Given the description of an element on the screen output the (x, y) to click on. 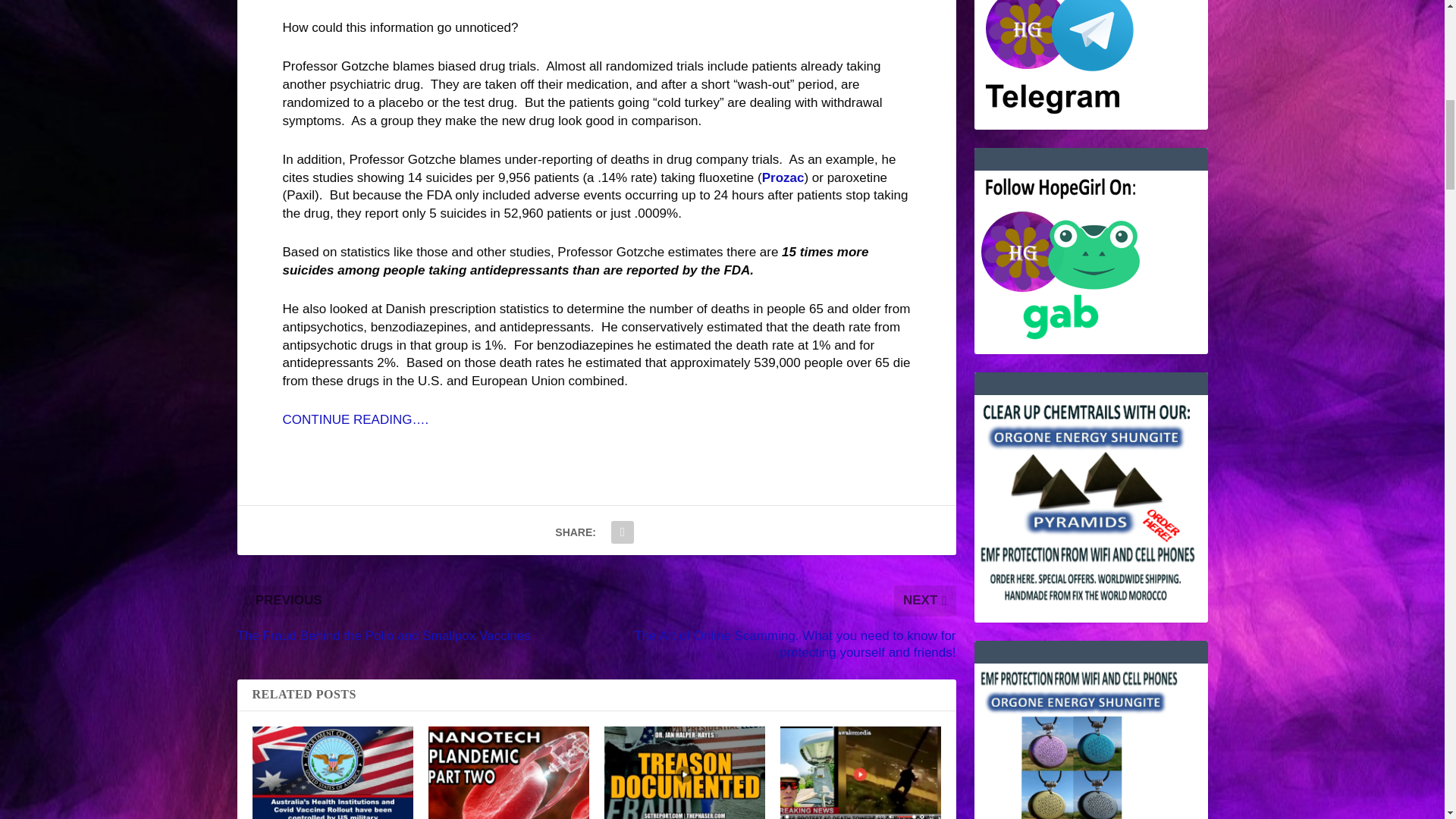
VIGILANTE HERO TAKES DOWN 5G DEATH LAMP WITH CIRCULAR SAW (859, 772)
NANOTECH PLANDEMIC PART 2 ON SGT REPORT WITH HOPE AND TIVON (508, 772)
Prozac (783, 177)
Share "Are ALL Those Tablets REALLY Helping??" via Print (622, 531)
